Given the description of an element on the screen output the (x, y) to click on. 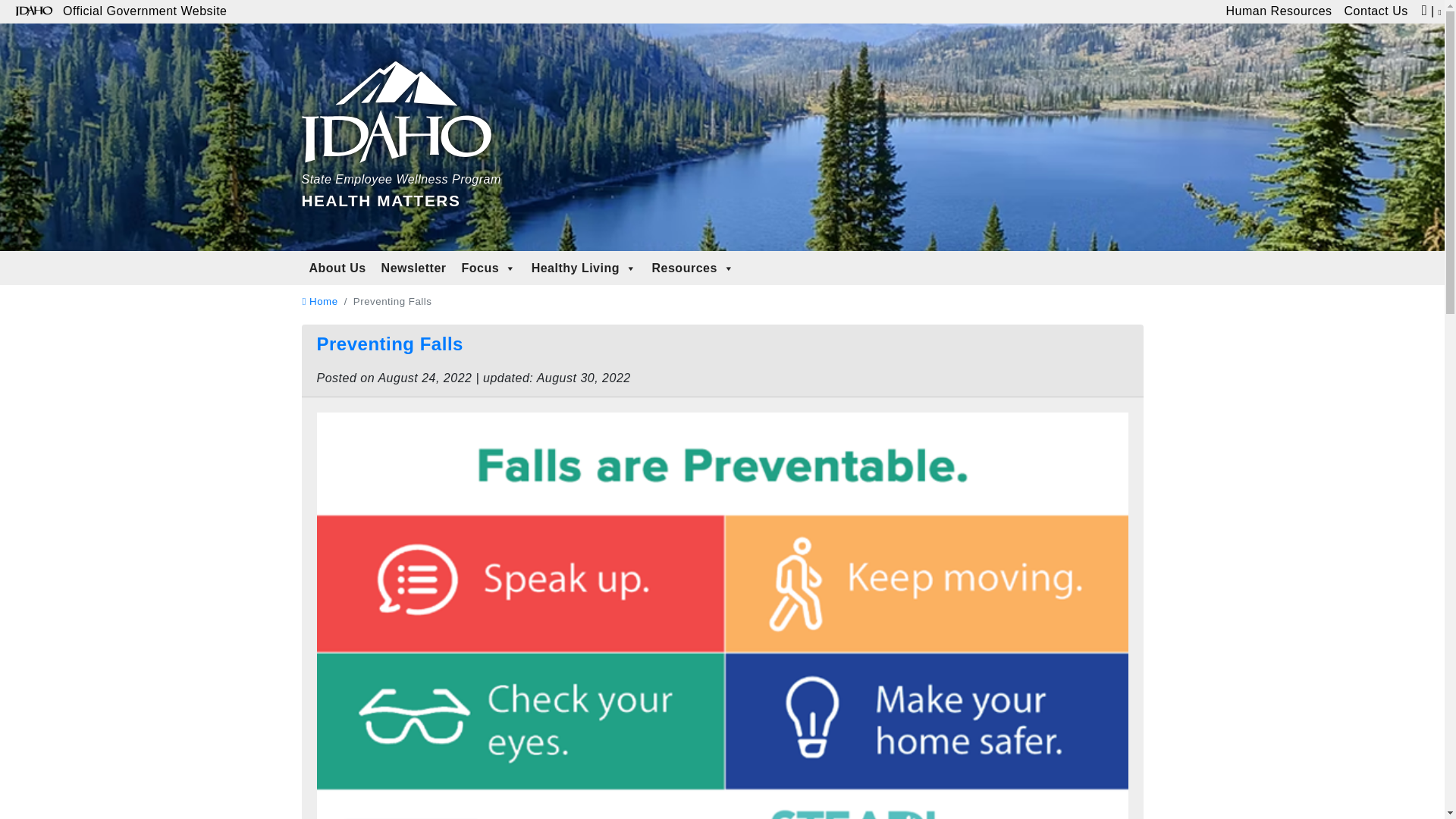
Human Resources (1279, 11)
home (319, 301)
About Us (337, 268)
Contact Us (1375, 11)
Focus (489, 268)
Resources (693, 268)
Health Matters (400, 117)
Preventing Falls (390, 343)
Healthy Living (400, 117)
Home (584, 268)
Newsletter (319, 301)
